Given the description of an element on the screen output the (x, y) to click on. 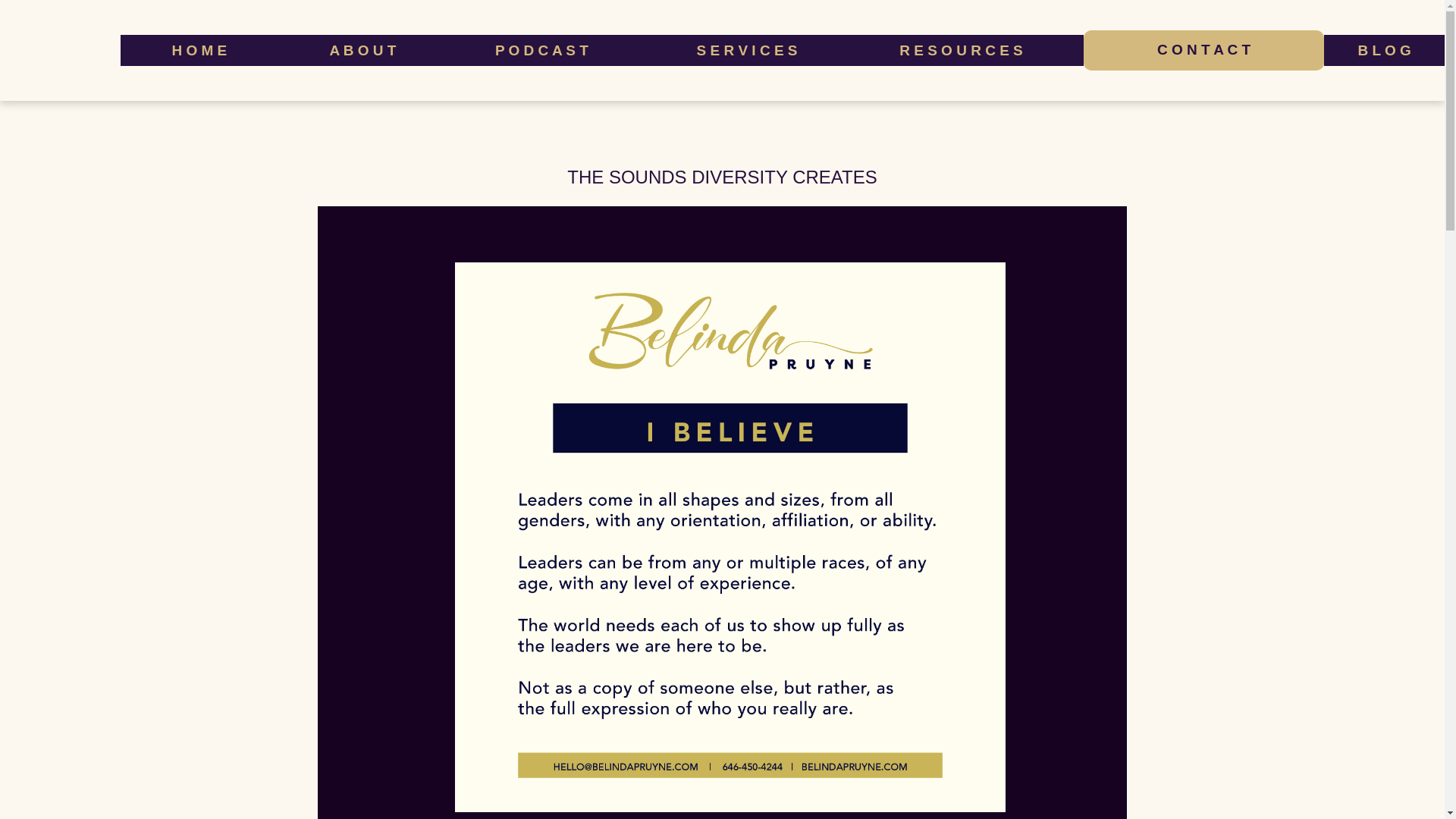
P O D C A S T (541, 50)
S E R V I C E S (745, 50)
B L O G (1383, 50)
A B O U T (362, 50)
R E S O U R C E S (961, 50)
C O N T A C T (1203, 49)
H O M E (199, 50)
